Given the description of an element on the screen output the (x, y) to click on. 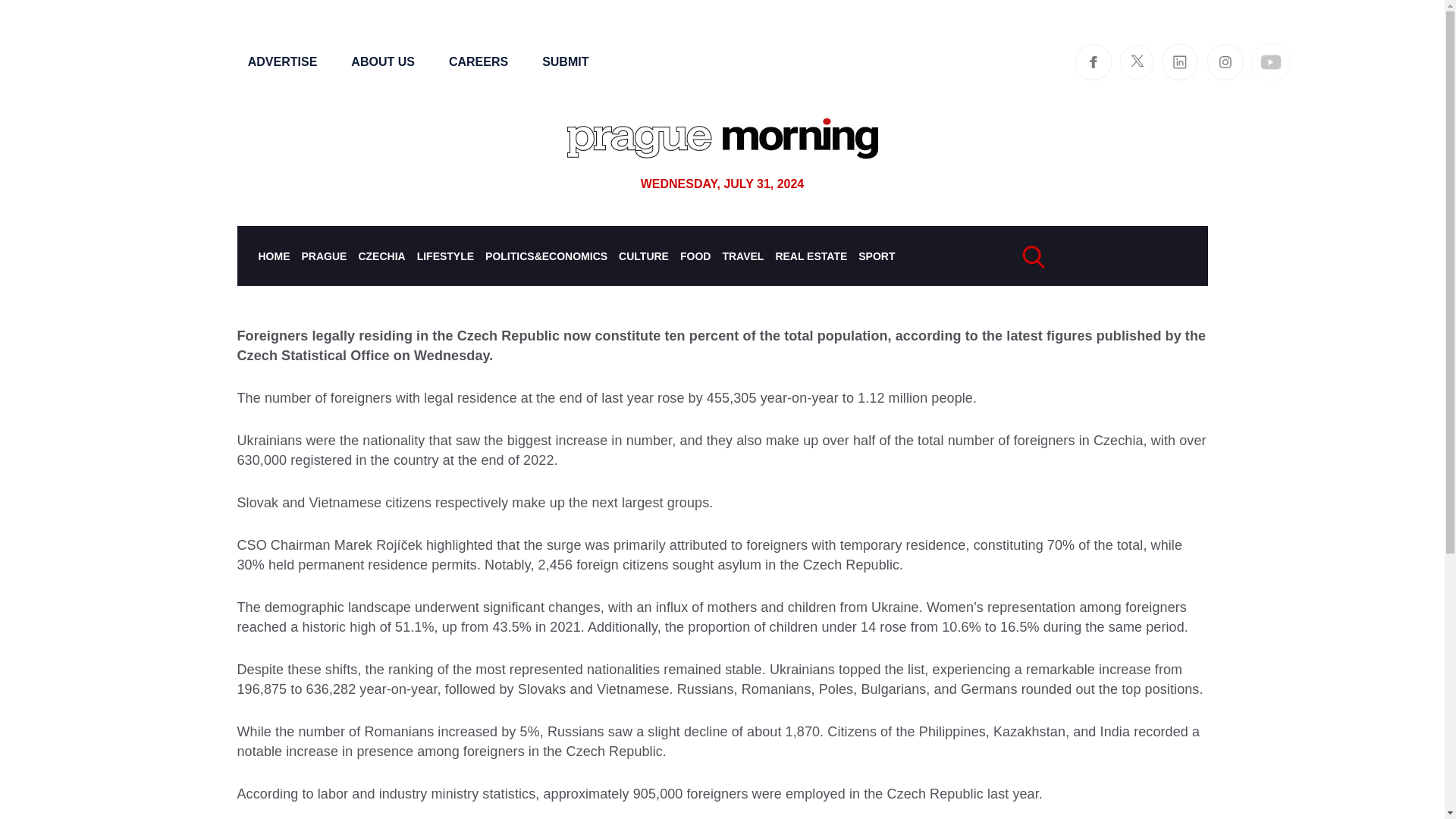
FOOD (694, 256)
HOME (273, 256)
PRAGUE (324, 256)
ABOUT US (382, 61)
CULTURE (643, 256)
CZECHIA (381, 256)
CAREERS (478, 61)
SUBMIT (564, 61)
REAL ESTATE (810, 256)
SPORT (877, 256)
LIFESTYLE (445, 256)
ADVERTISE (282, 61)
TRAVEL (742, 256)
